Given the description of an element on the screen output the (x, y) to click on. 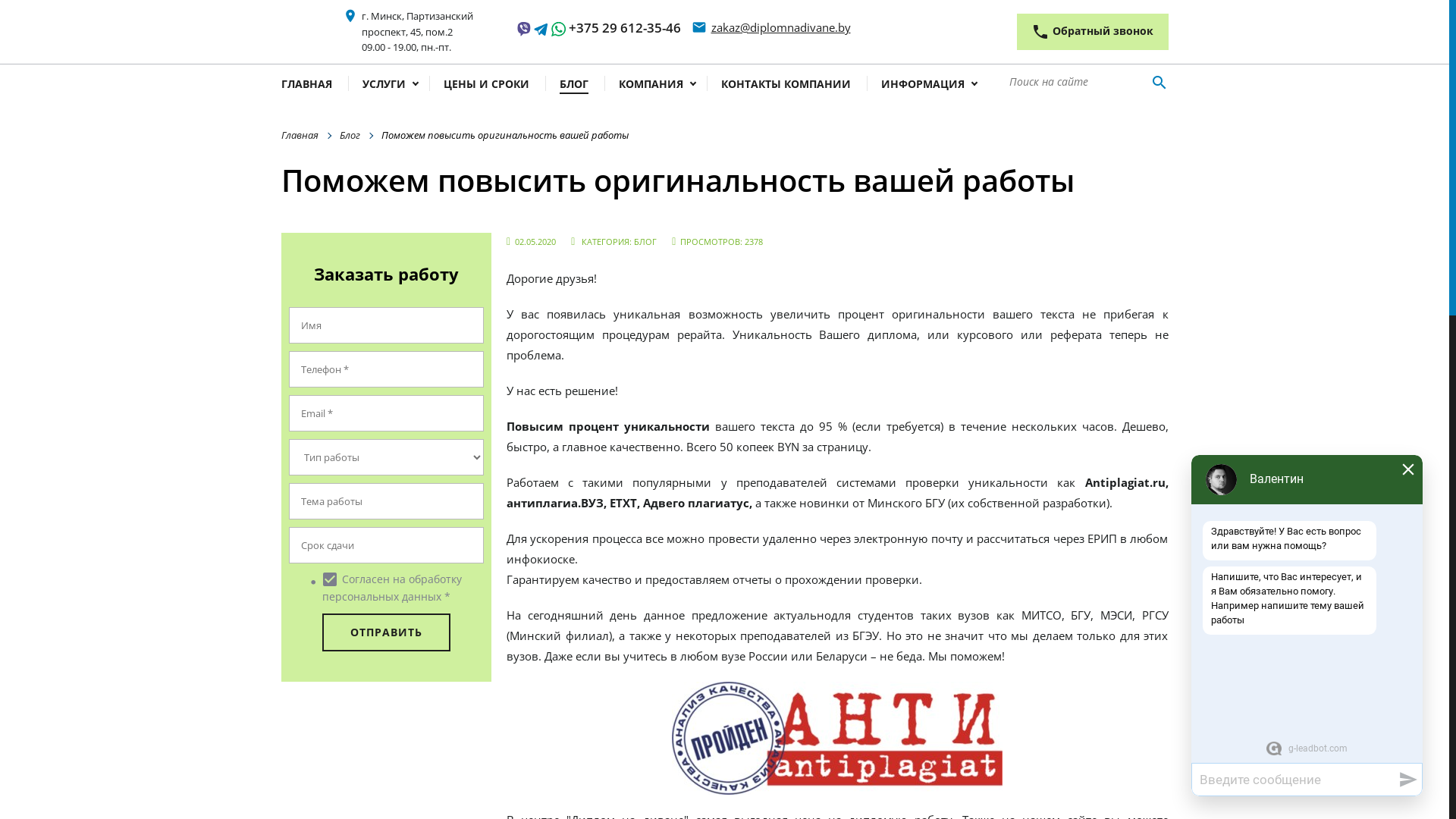
+375 29 612-35-46 Element type: text (624, 27)
zakaz@diplomnadivane.by Element type: text (780, 27)
search Element type: text (1158, 83)
